Given the description of an element on the screen output the (x, y) to click on. 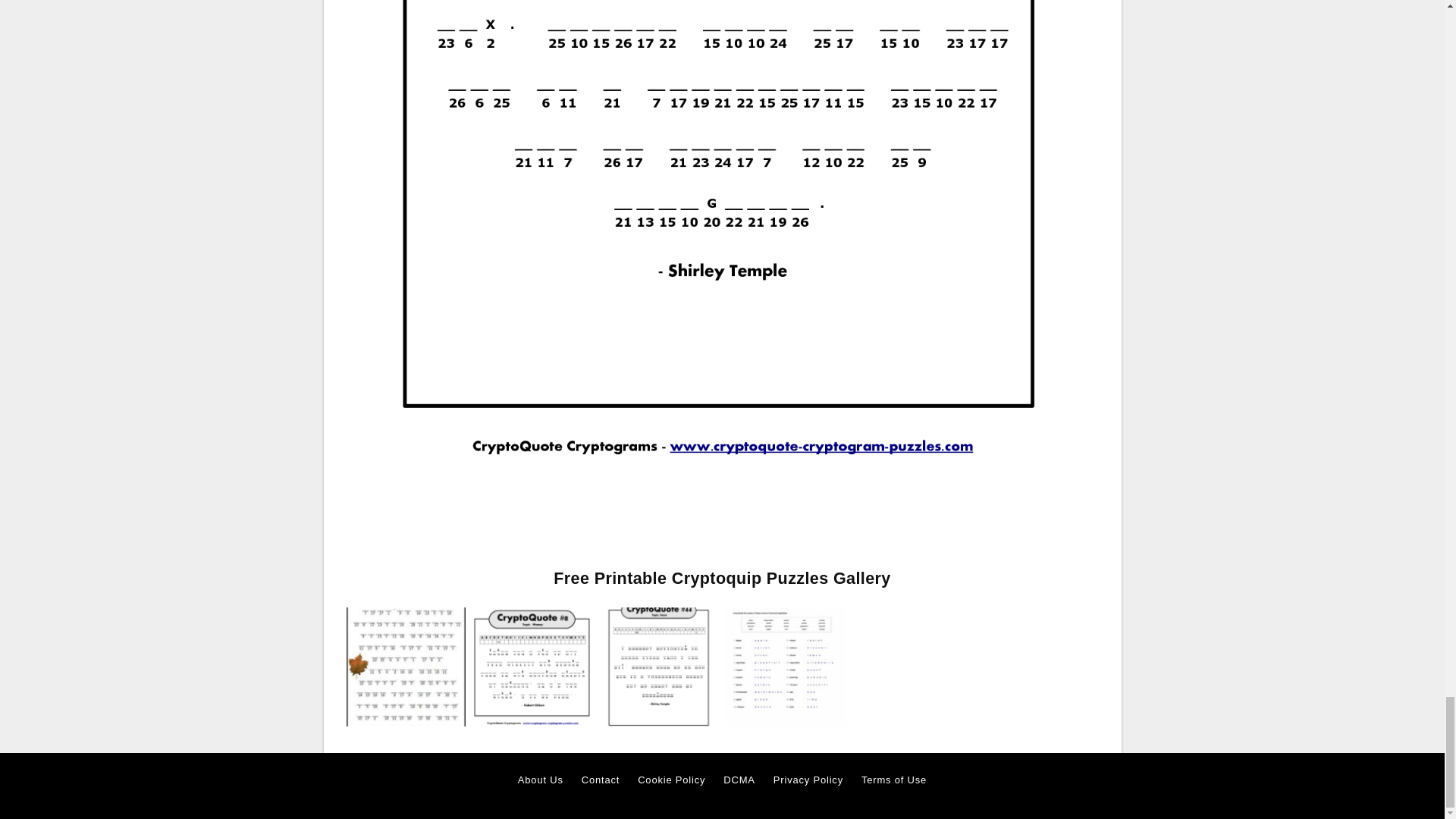
Contact (600, 780)
Free Printable Cryptograms Pdf (405, 666)
Free Printable Cryptograms With Answers (532, 666)
Cookie Policy (670, 780)
DCMA (738, 780)
Free Printable Cryptograms Pdf (405, 666)
About Us (540, 780)
Terms of Use (893, 780)
Privacy Policy (808, 780)
